Given the description of an element on the screen output the (x, y) to click on. 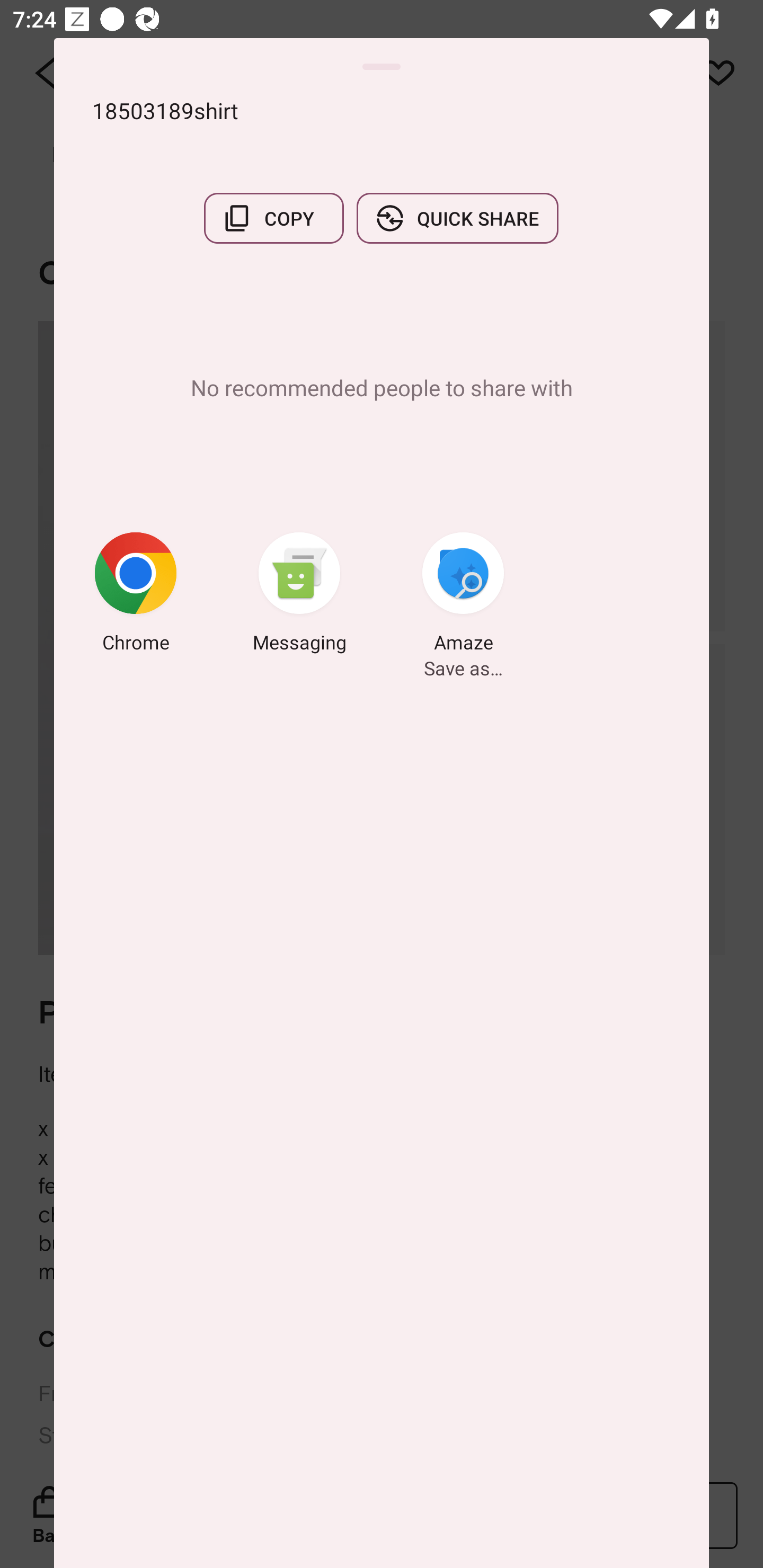
COPY (273, 218)
QUICK SHARE (457, 218)
Chrome (135, 594)
Messaging (299, 594)
Amaze Save as… (463, 594)
